Given the description of an element on the screen output the (x, y) to click on. 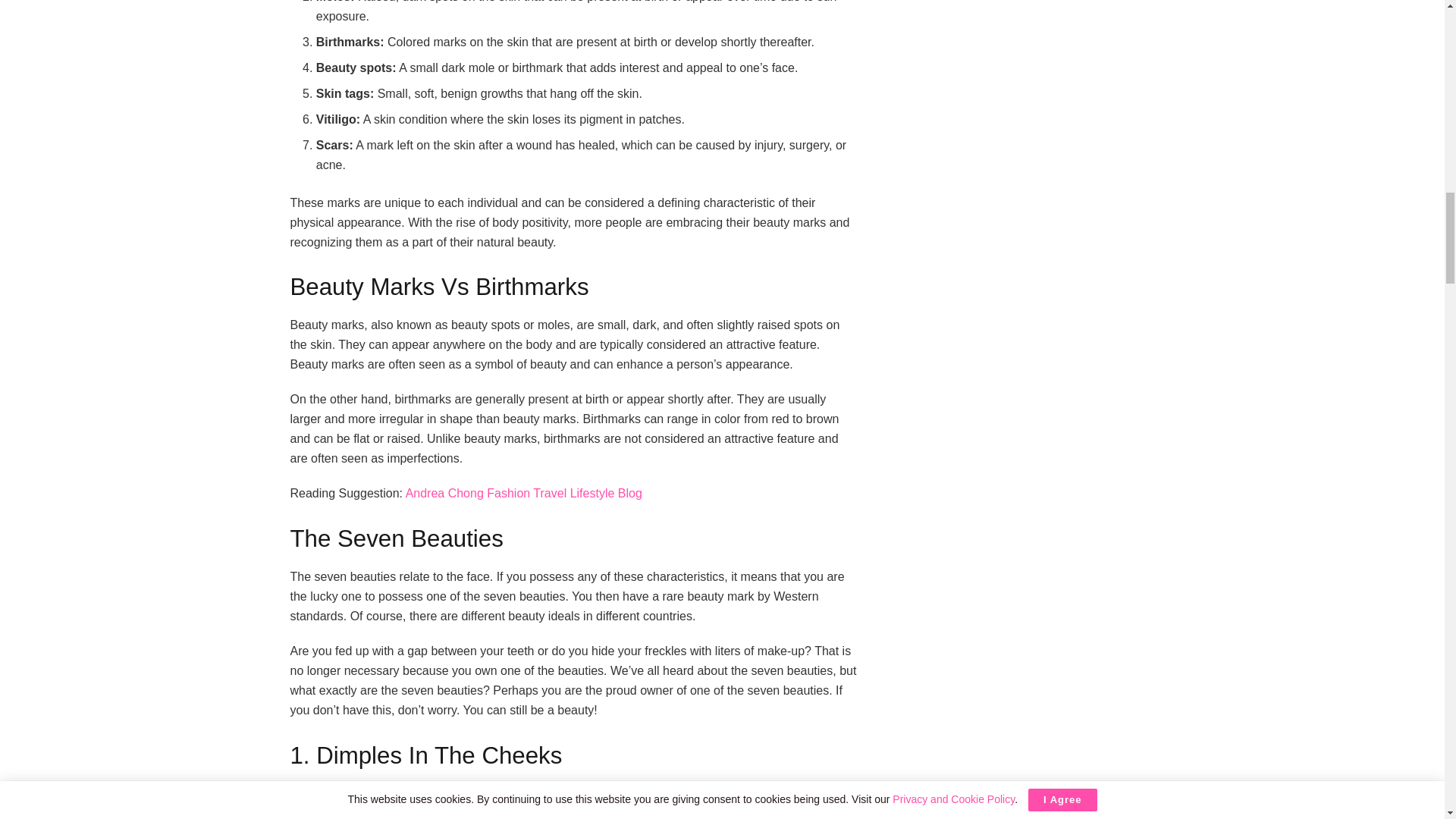
7 Beauty Marks: Embracing Freckles, Moles, And Birthmarks 2 (574, 801)
